Given the description of an element on the screen output the (x, y) to click on. 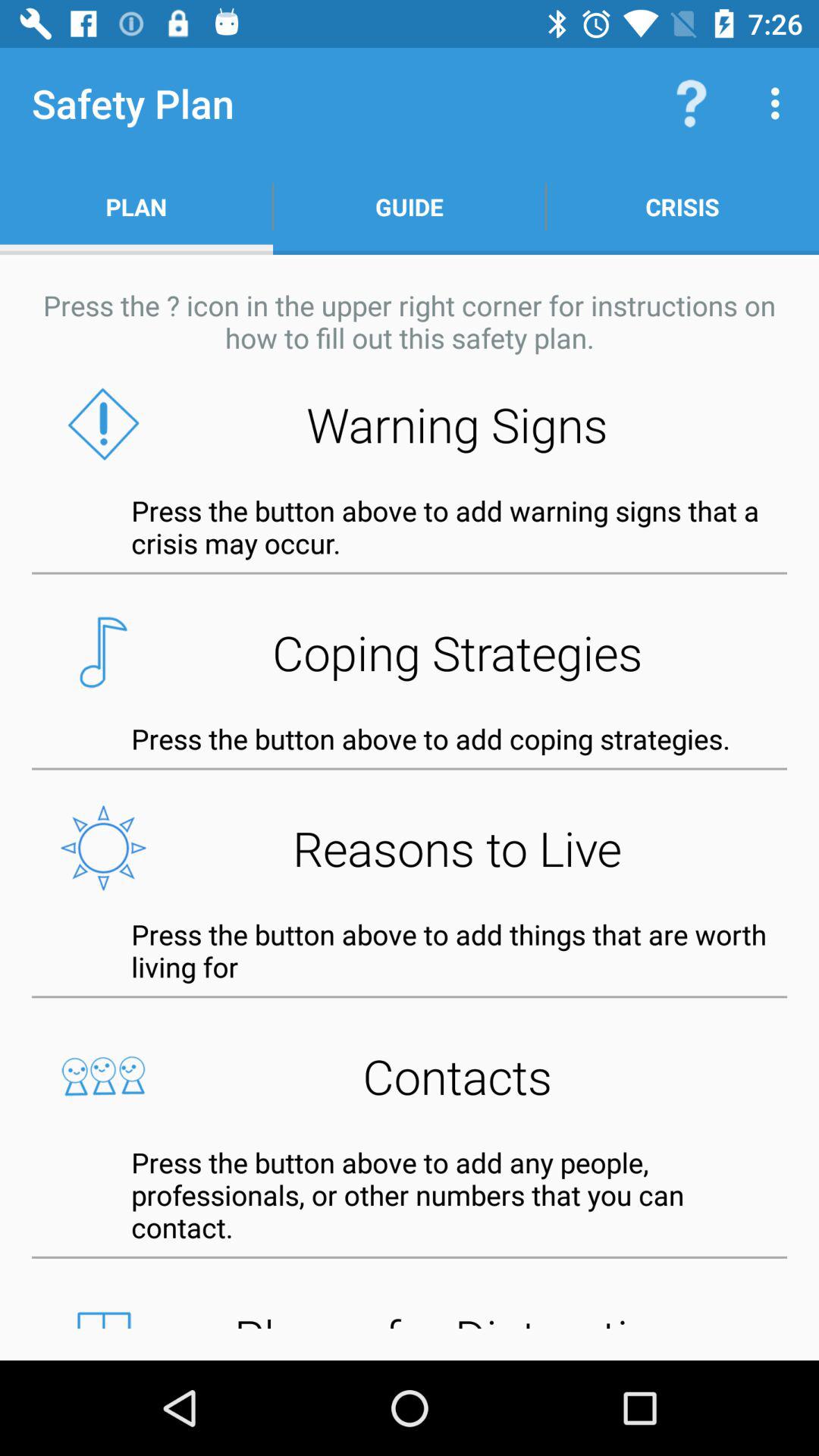
jump until guide (409, 206)
